Given the description of an element on the screen output the (x, y) to click on. 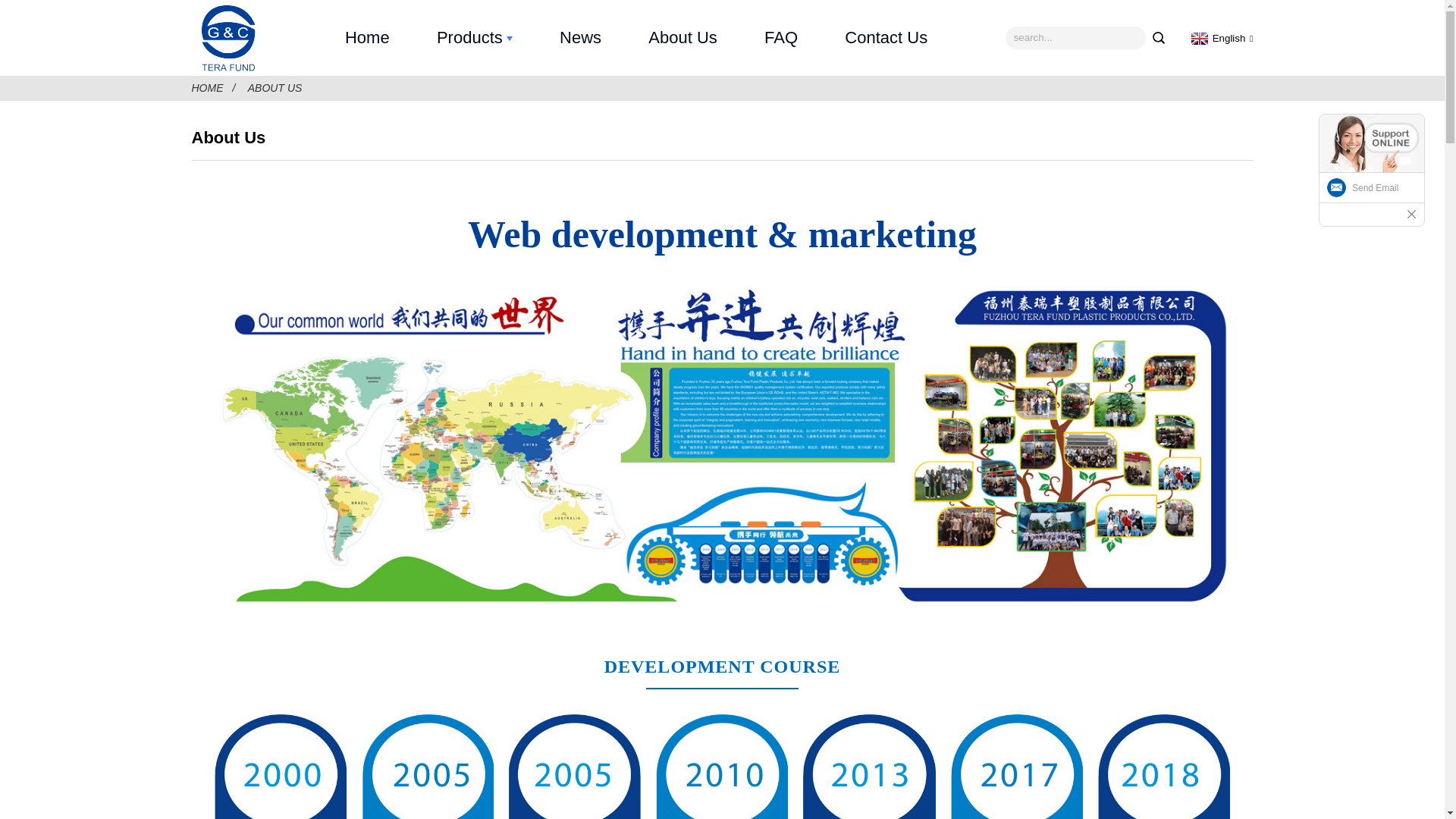
Products (474, 37)
